Given the description of an element on the screen output the (x, y) to click on. 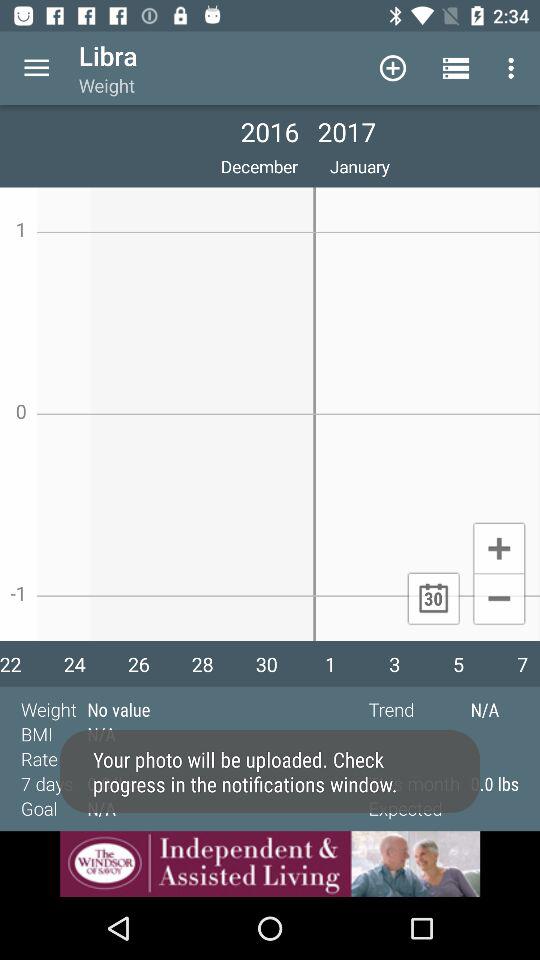
show outside advertisement (270, 864)
